Given the description of an element on the screen output the (x, y) to click on. 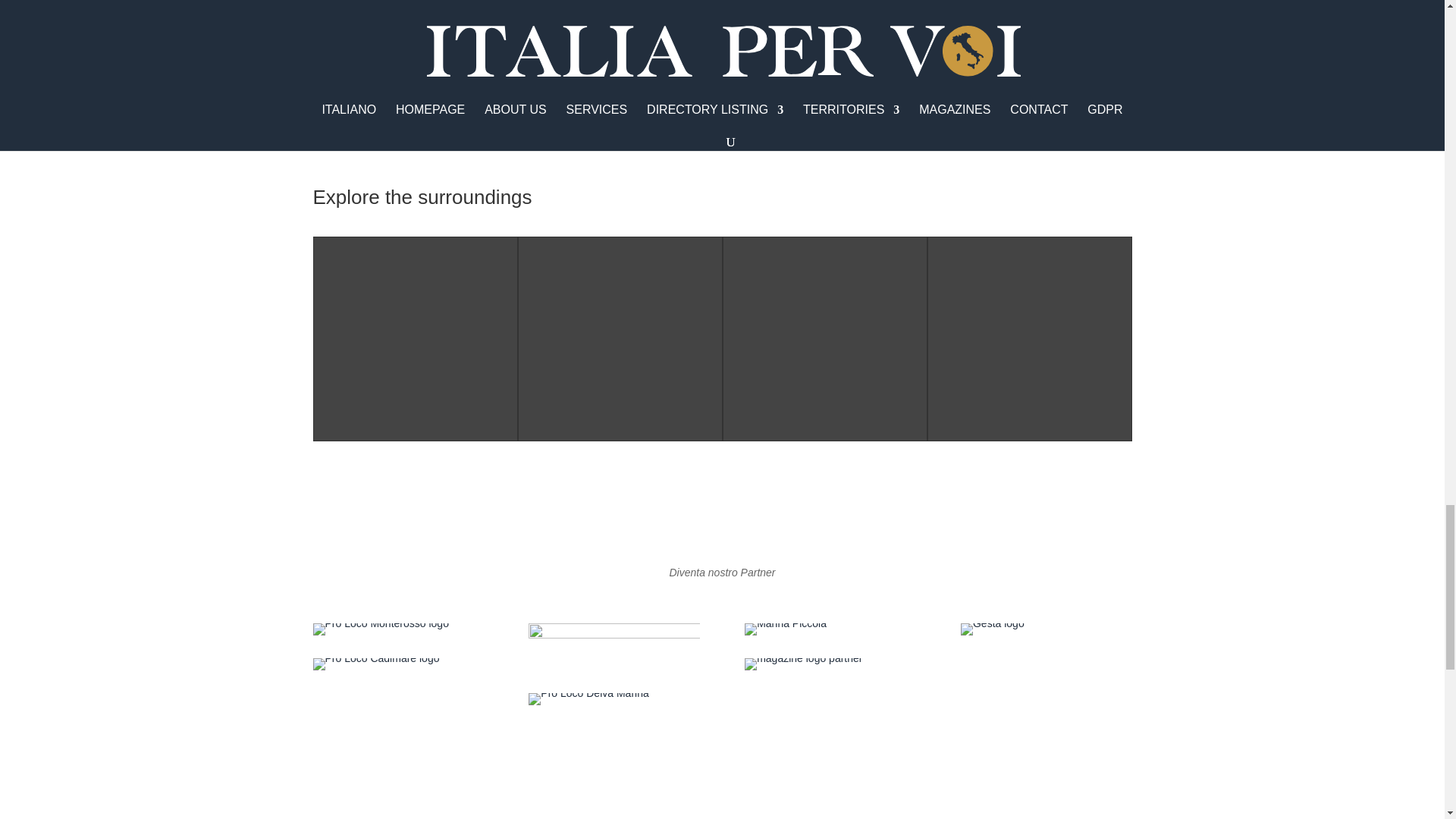
logo-pro-loco-cadimare (376, 664)
pro-loco-moneglia-logo (613, 646)
pro-loco-moneglia-logo-partner-big (587, 698)
albergo-marina-piccola-logo (785, 629)
logo-magazine-partner-gray (802, 664)
pro-loco-monterosso-logo (380, 629)
